Given the description of an element on the screen output the (x, y) to click on. 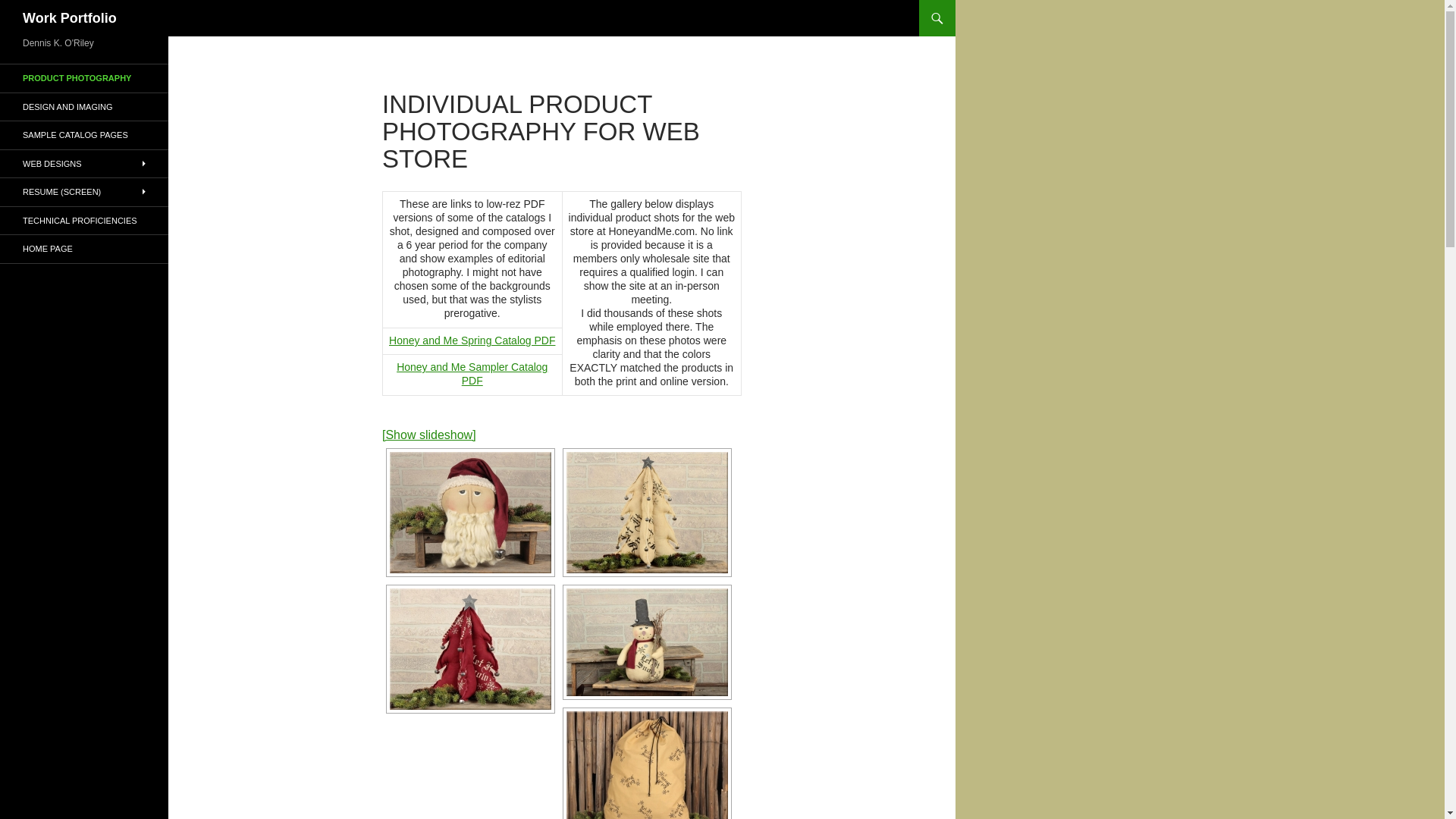
Work Portfolio (69, 18)
Honey and Me Spring Catalog PDF (471, 340)
C14097 (470, 512)
C14102 (647, 765)
C14100 (470, 649)
C14098 (647, 512)
Honey and Me Sampler Catalog PDF (471, 373)
C14101 (647, 642)
